Given the description of an element on the screen output the (x, y) to click on. 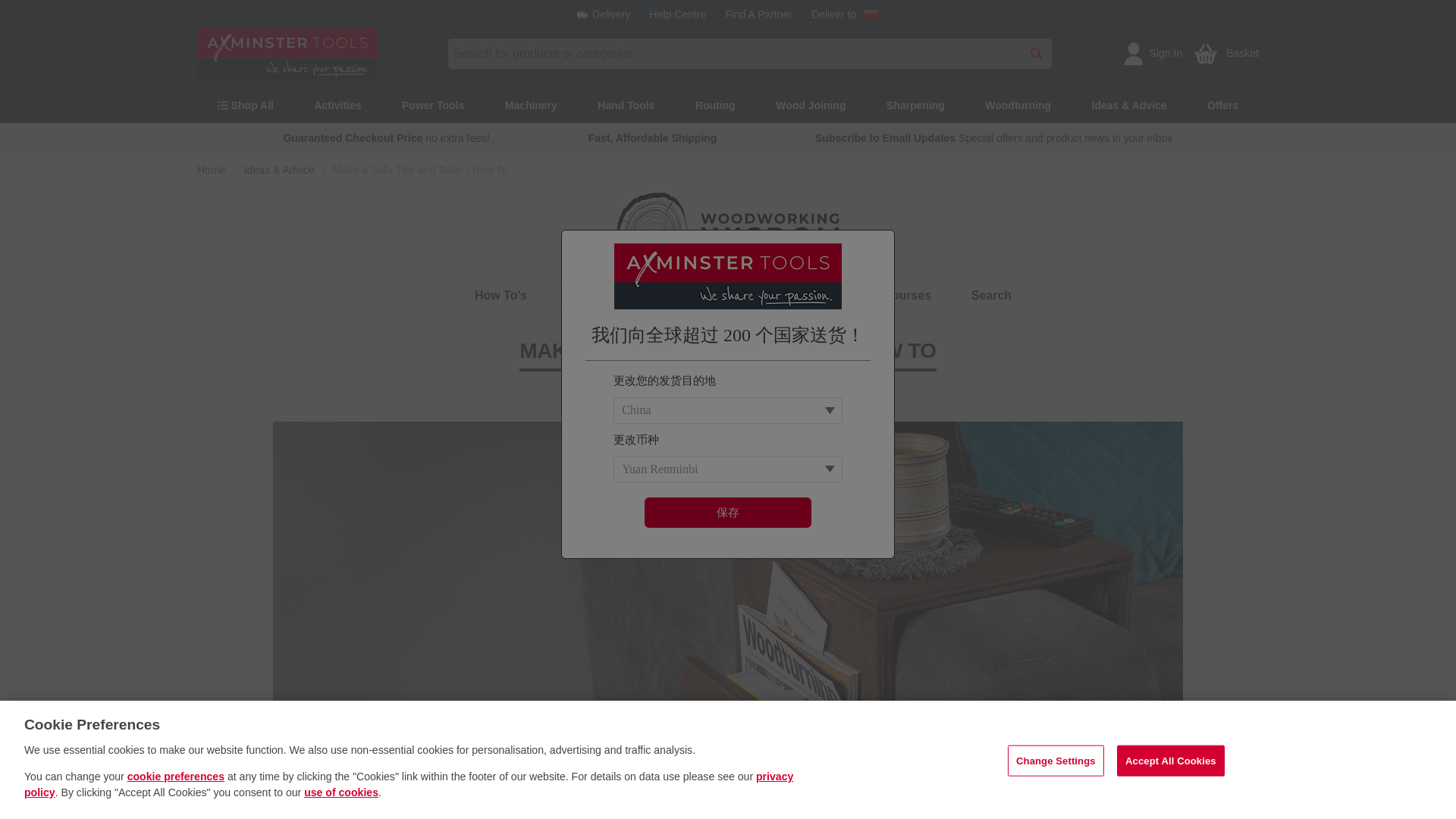
Search (991, 295)
Courses (906, 295)
Menu Icon (222, 104)
Delivery (603, 14)
Search (1036, 52)
Help Centre (677, 14)
Product Guides (612, 295)
Community (729, 295)
Go to Home Page (210, 170)
